Given the description of an element on the screen output the (x, y) to click on. 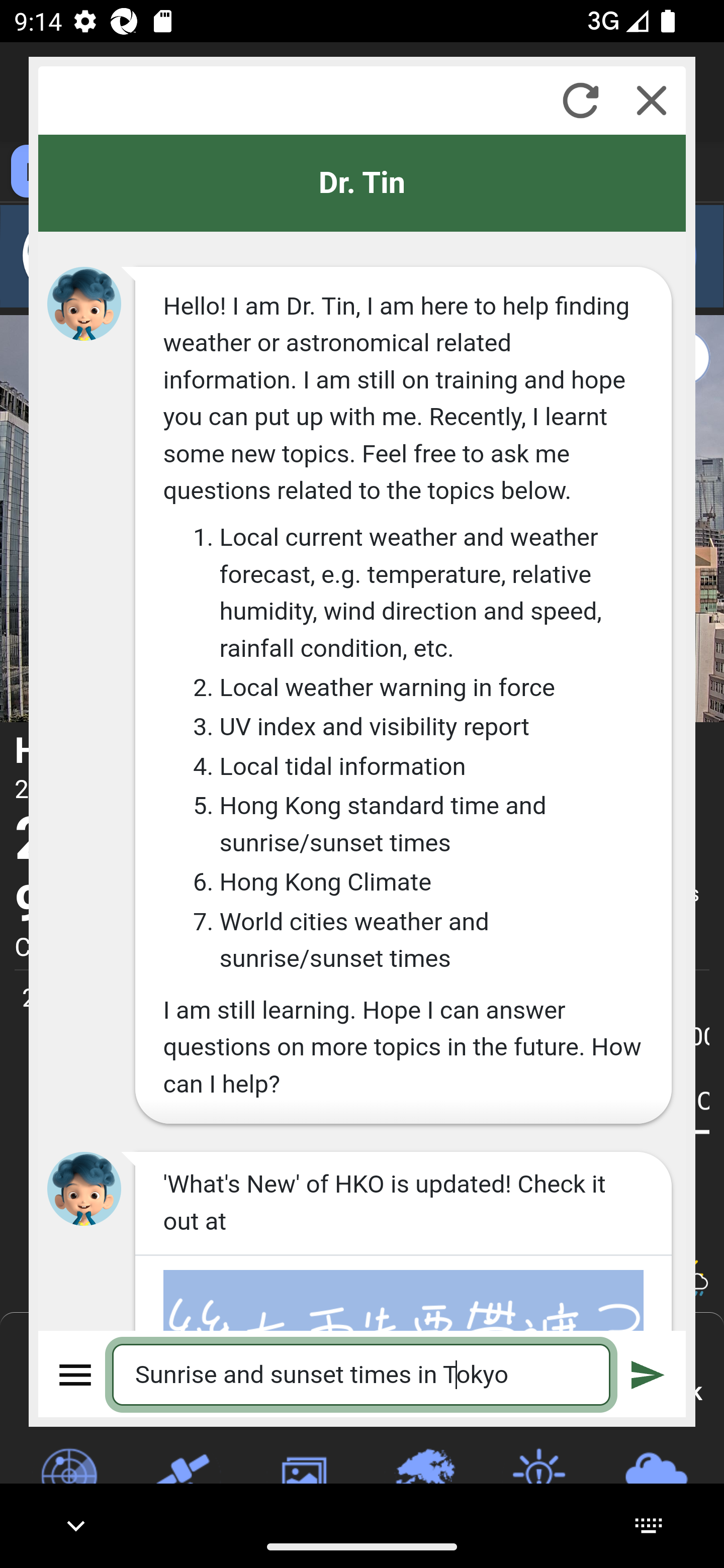
Refresh (580, 100)
Close (651, 100)
Menu (75, 1374)
Submit (648, 1374)
Sunrise and sunset times in Tokyo (361, 1374)
